Given the description of an element on the screen output the (x, y) to click on. 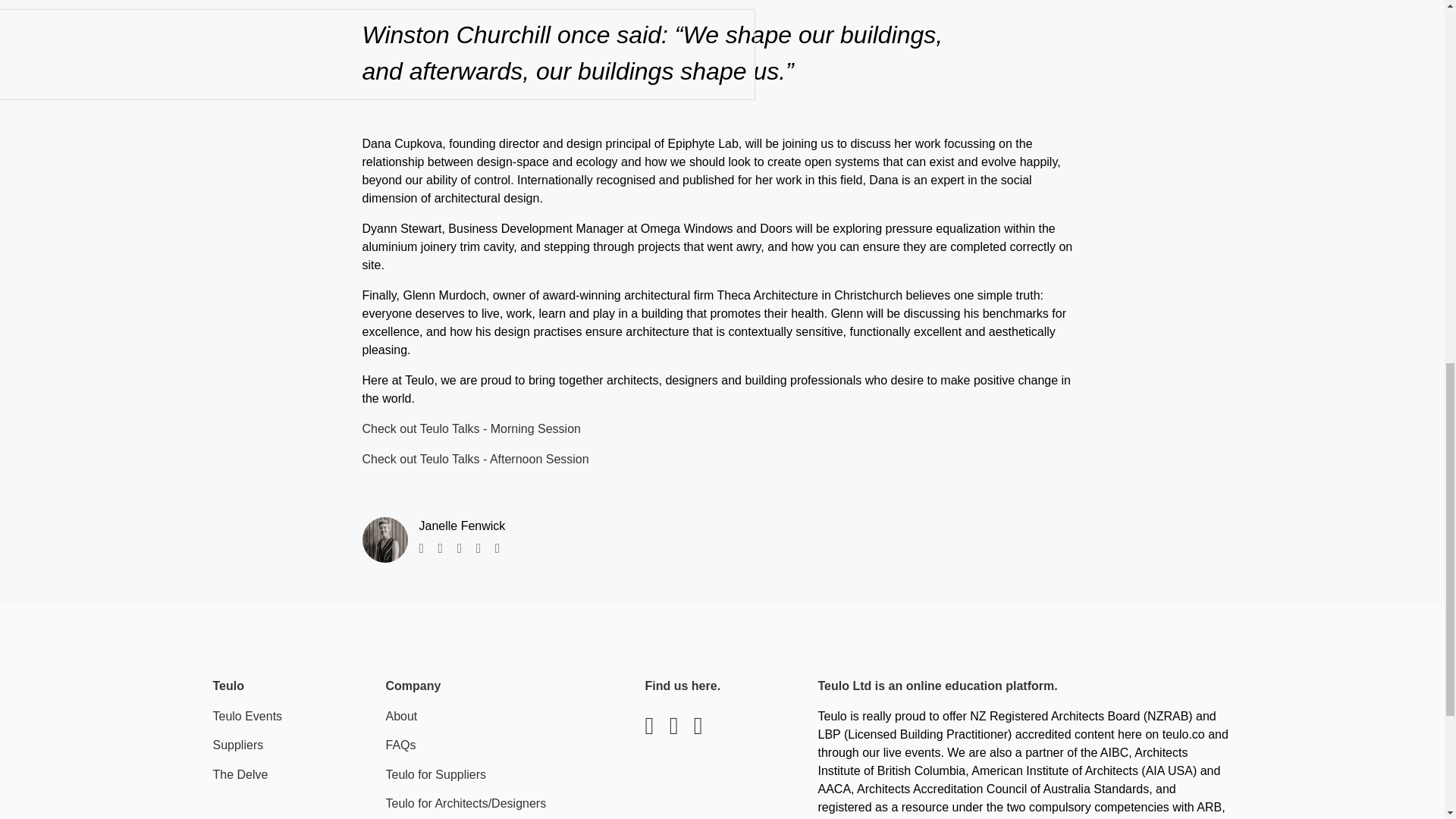
The Delve (239, 774)
Teulo for Suppliers (435, 774)
Teulo Events (247, 716)
Check out Teulo Talks - Afternoon Session (475, 459)
About (400, 716)
Check out Teulo Talks - Morning Session (471, 428)
Suppliers (237, 744)
FAQs (399, 744)
